Given the description of an element on the screen output the (x, y) to click on. 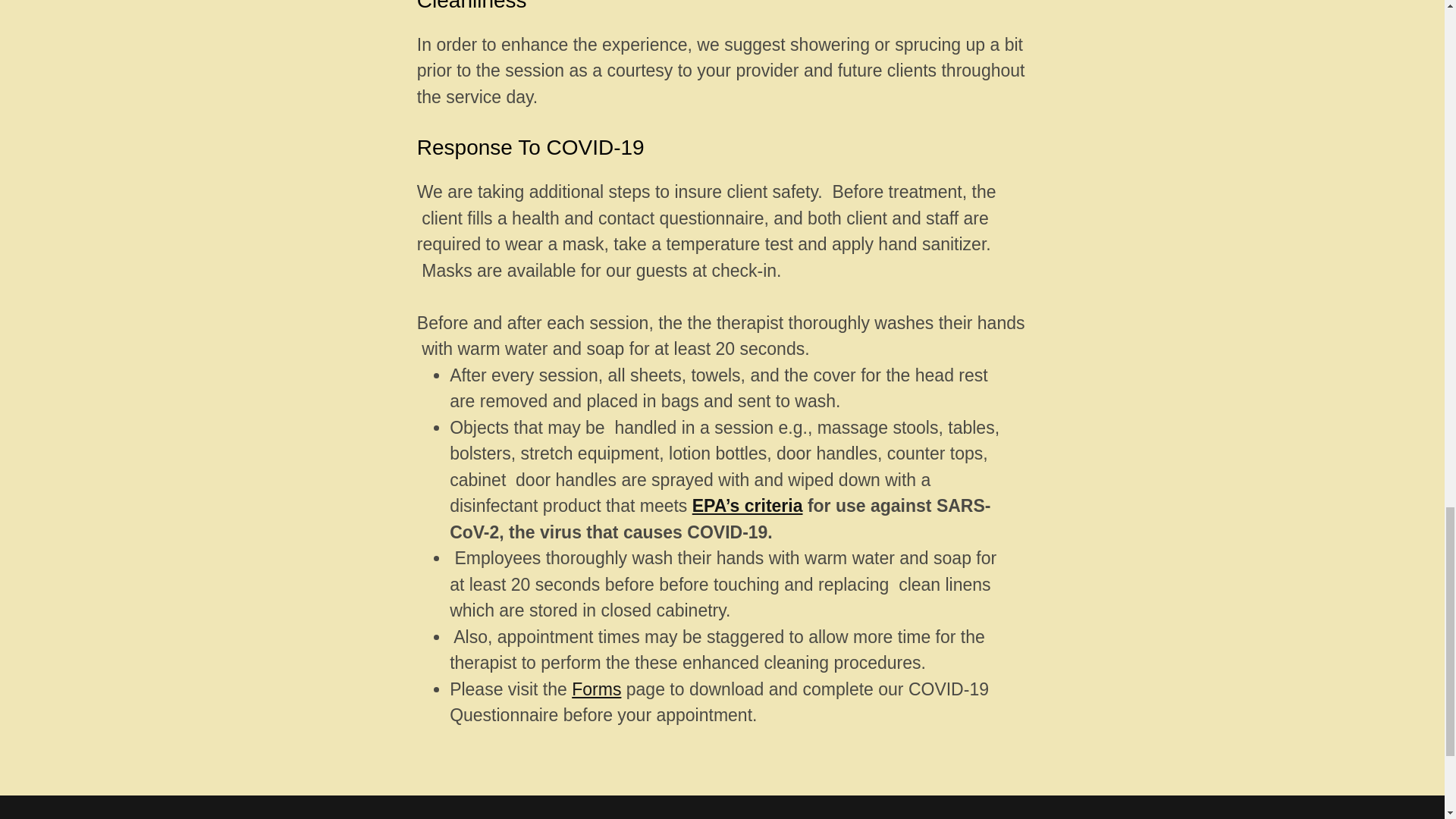
Forms (596, 689)
